Given the description of an element on the screen output the (x, y) to click on. 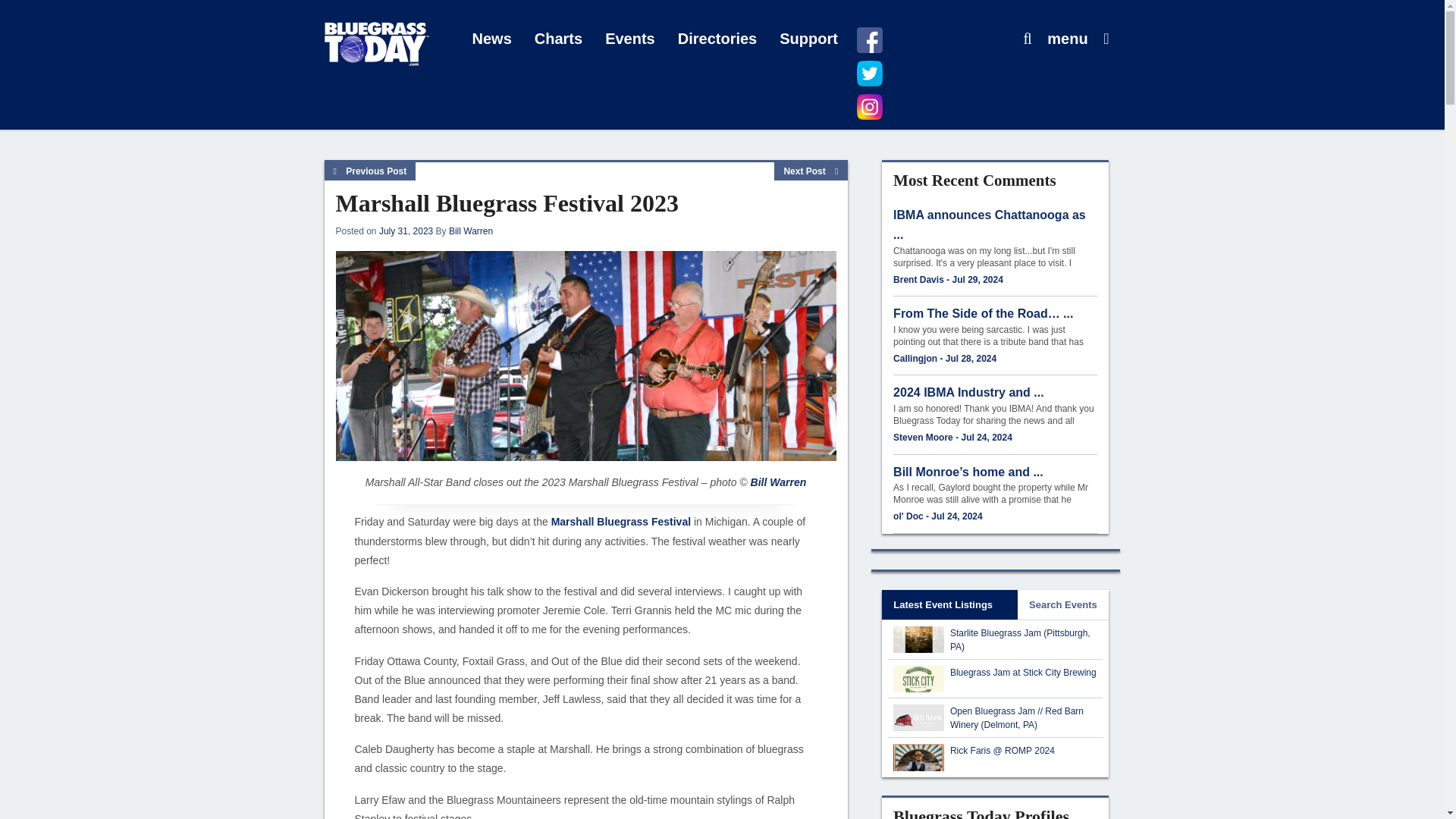
Charts (558, 39)
July 31, 2023 (405, 231)
Directories (717, 39)
Bill Warren (470, 231)
Bill Warren (778, 481)
Events (630, 39)
News (491, 39)
Marshall Bluegrass Festival (620, 521)
menu (1066, 39)
Next Post (810, 171)
Support (808, 39)
Previous Post (370, 171)
